Given the description of an element on the screen output the (x, y) to click on. 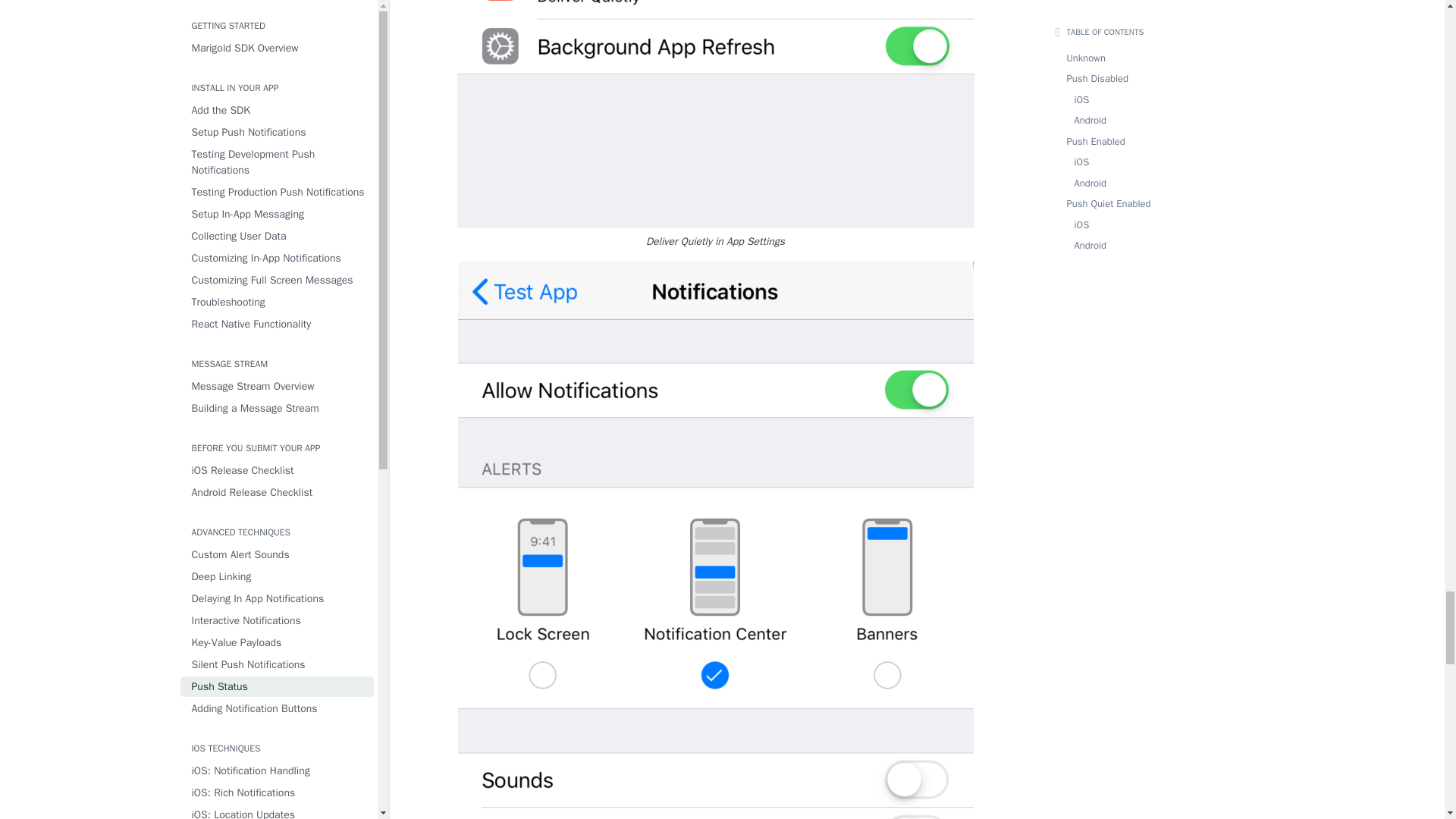
Screen Shot 2019-01-08 at 11.08.11 AM.png (715, 114)
